Given the description of an element on the screen output the (x, y) to click on. 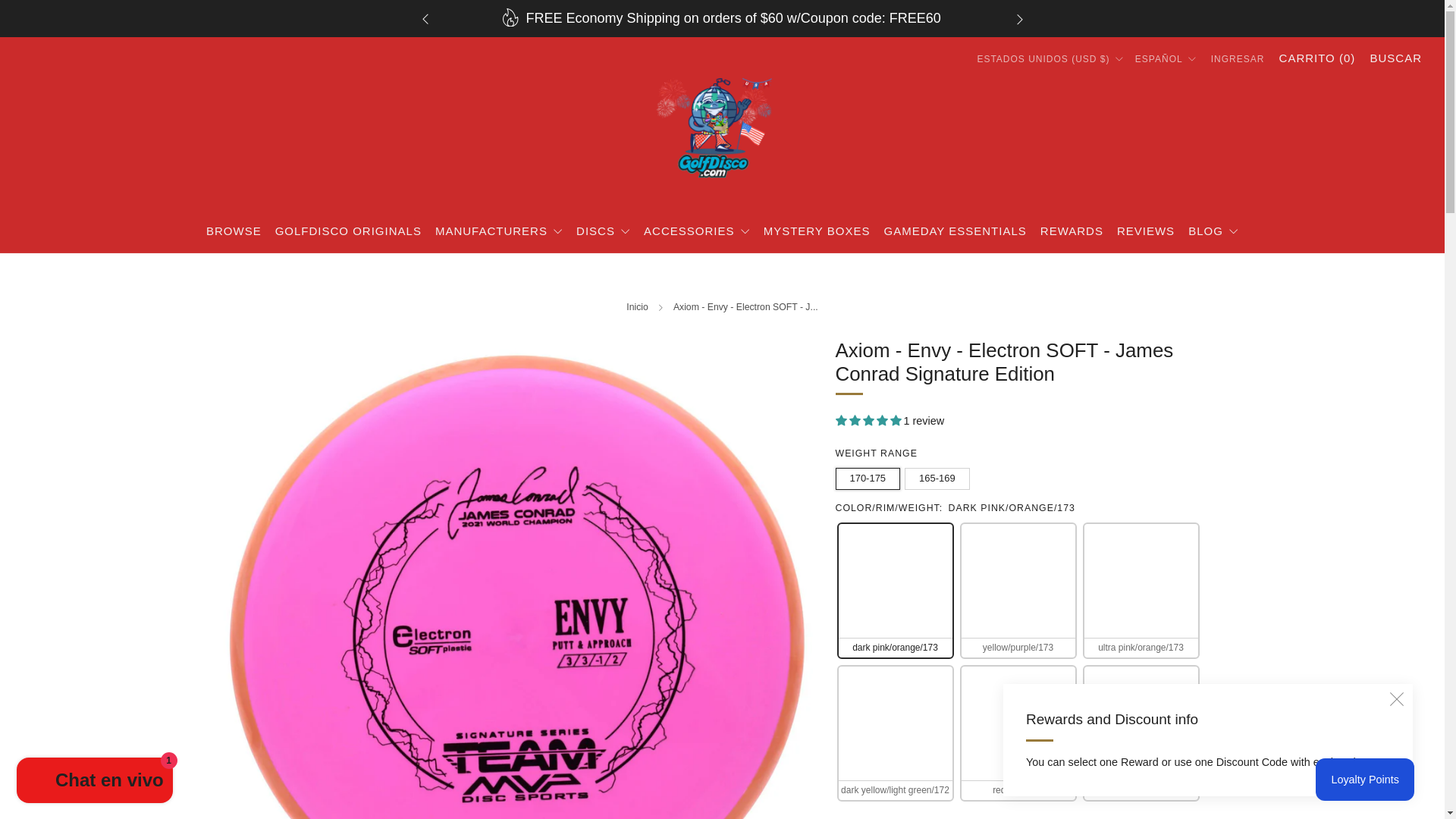
ACCESSORIES (696, 231)
GOLFDISCO ORIGINALS (348, 231)
MANUFACTURERS (498, 231)
Inicio (636, 307)
165-169 (939, 475)
BROWSE (234, 231)
DISCS (603, 231)
170-175 (870, 475)
